Given the description of an element on the screen output the (x, y) to click on. 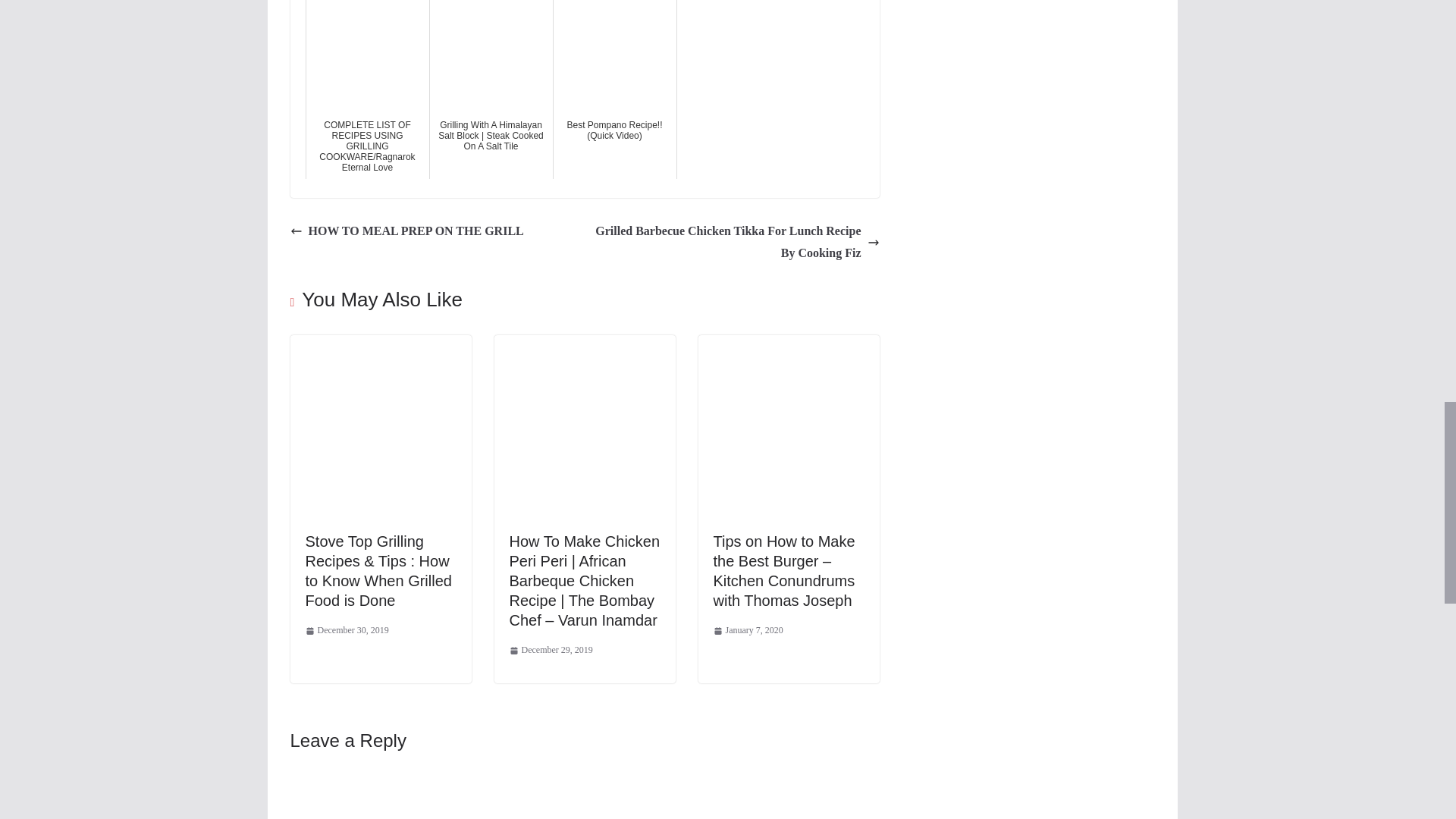
December 29, 2019 (550, 650)
January 7, 2020 (748, 630)
HOW TO MEAL PREP ON THE GRILL (405, 231)
December 30, 2019 (346, 630)
3:55 am (346, 630)
3:15 pm (550, 650)
